Given the description of an element on the screen output the (x, y) to click on. 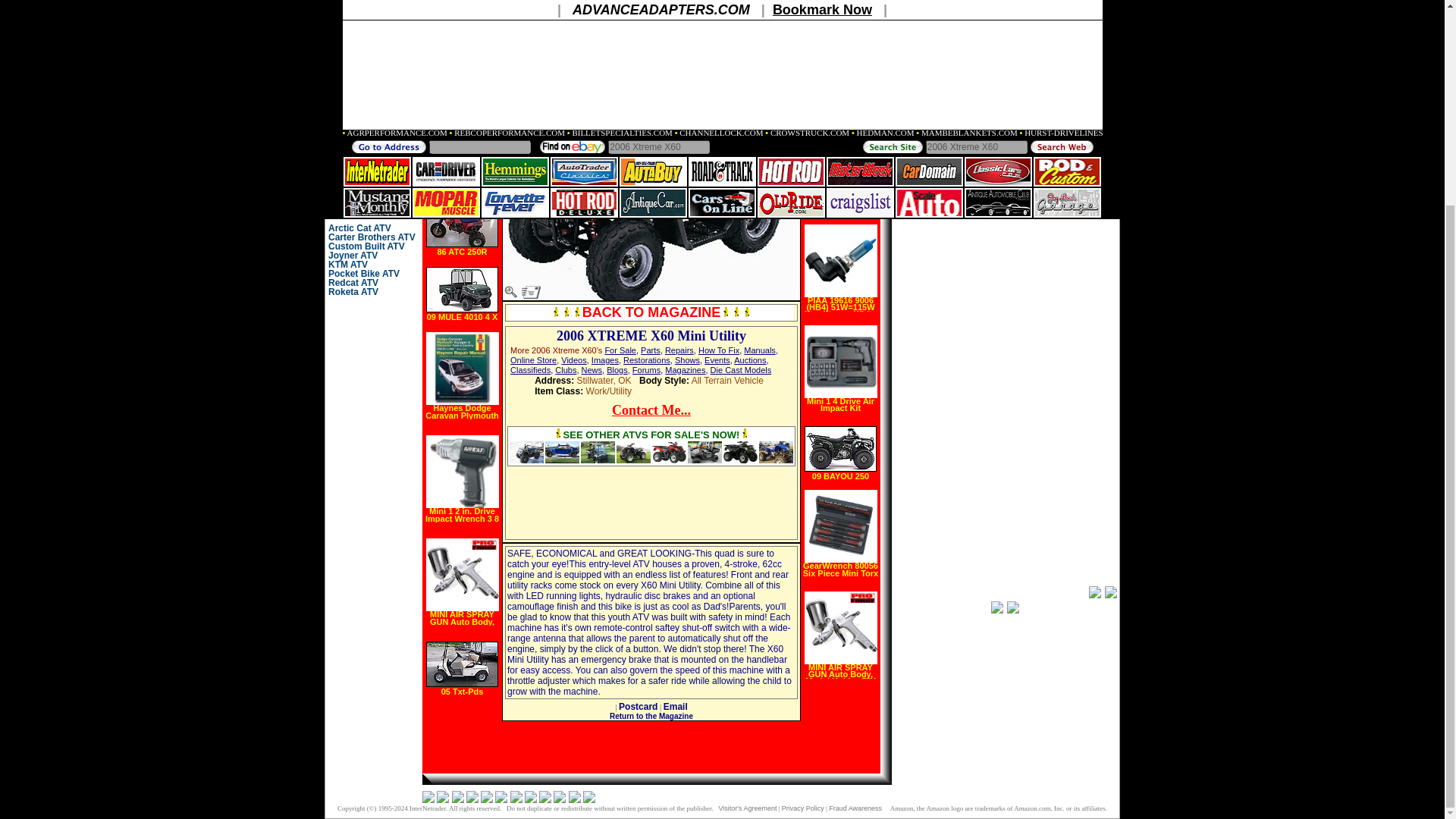
Advertisement (723, 501)
Advertisement (579, 501)
Advertisement (1005, 218)
